Given the description of an element on the screen output the (x, y) to click on. 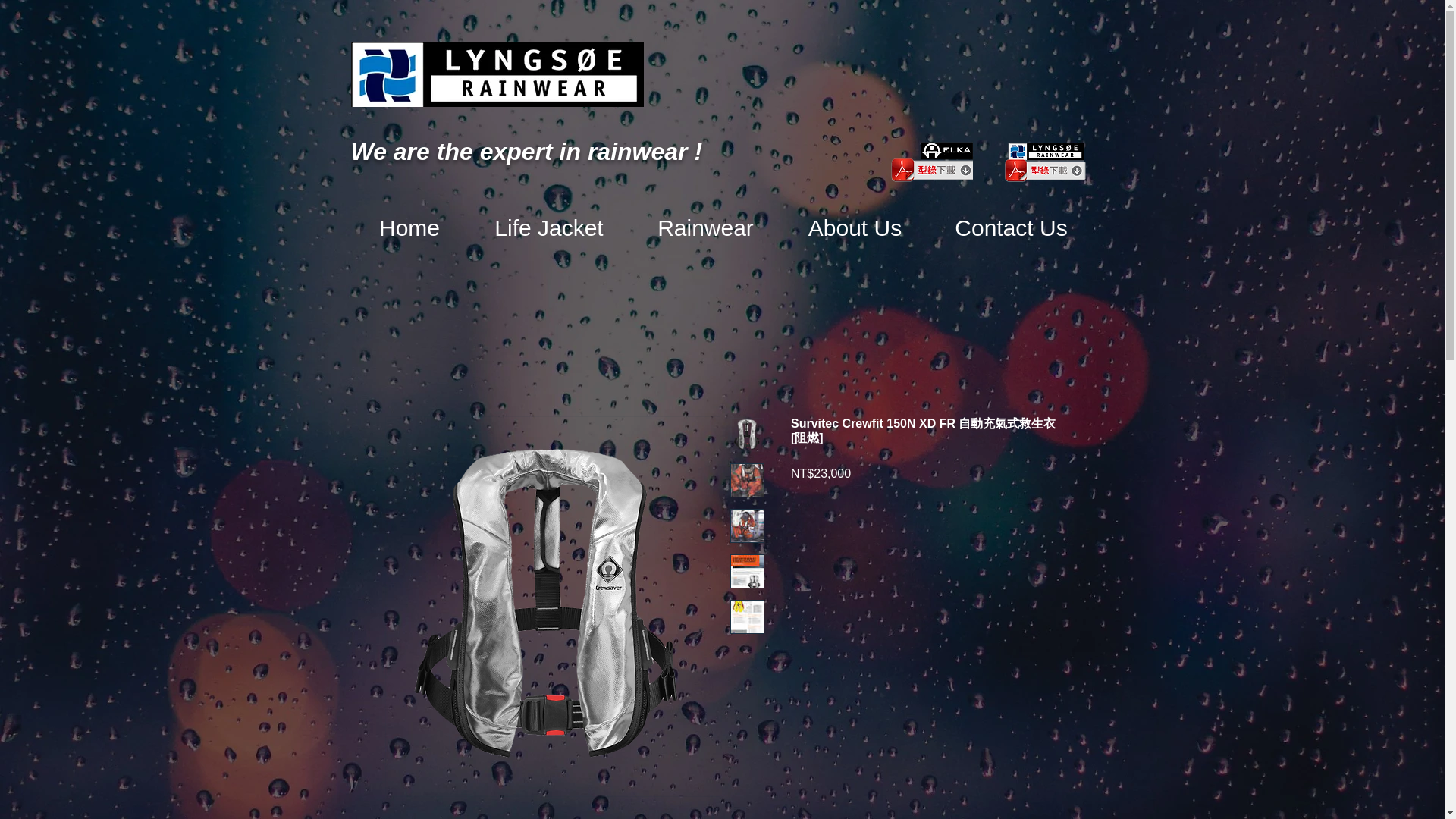
Home (408, 228)
About Us (854, 228)
Rainwear (704, 228)
Contact Us (1010, 228)
Life Jacket (549, 228)
